Given the description of an element on the screen output the (x, y) to click on. 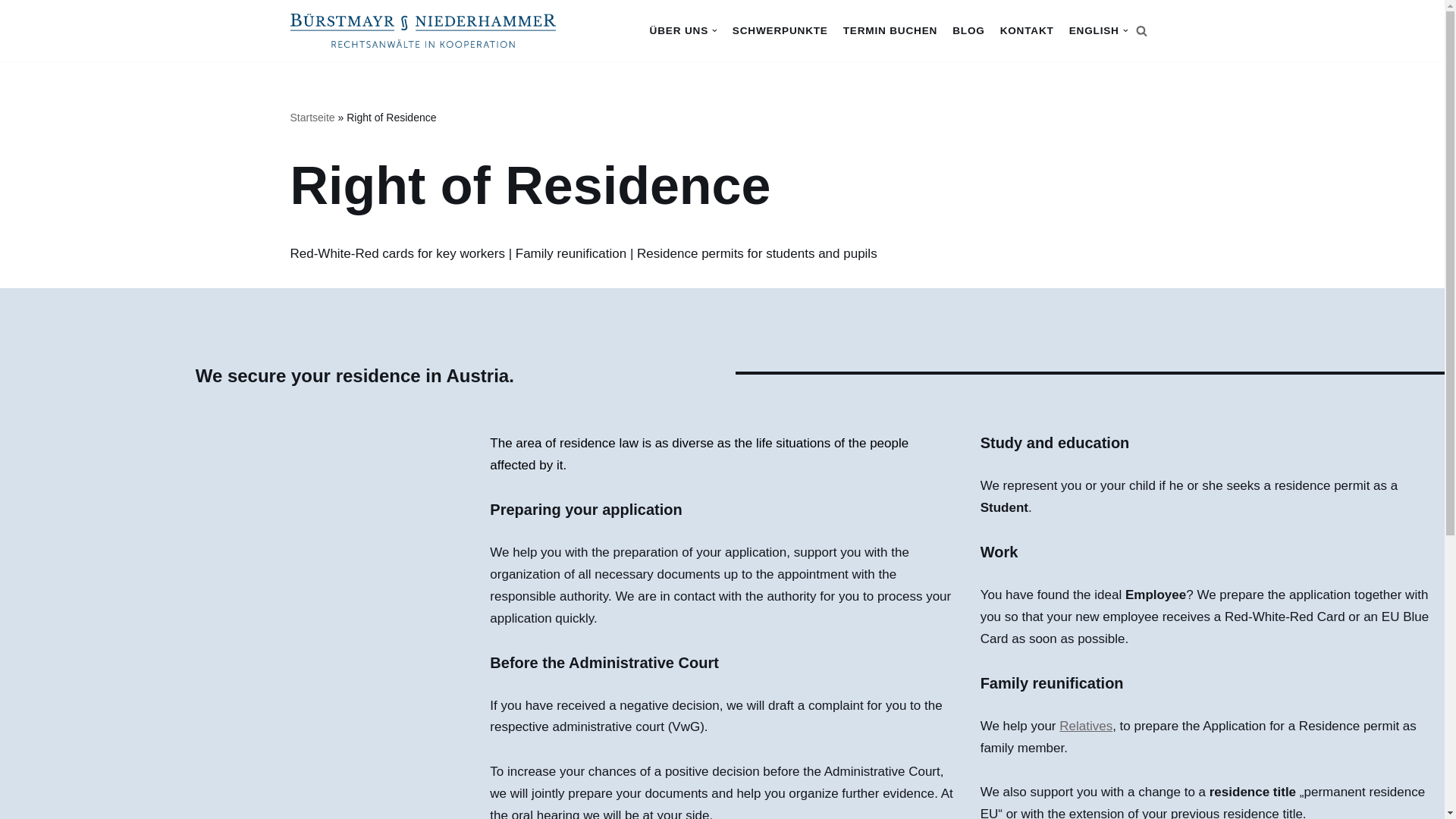
ENGLISH (1098, 30)
TERMIN BUCHEN (890, 30)
KONTAKT (1027, 30)
SCHWERPUNKTE (780, 30)
BLOG (968, 30)
Zum Inhalt springen (11, 31)
